Given the description of an element on the screen output the (x, y) to click on. 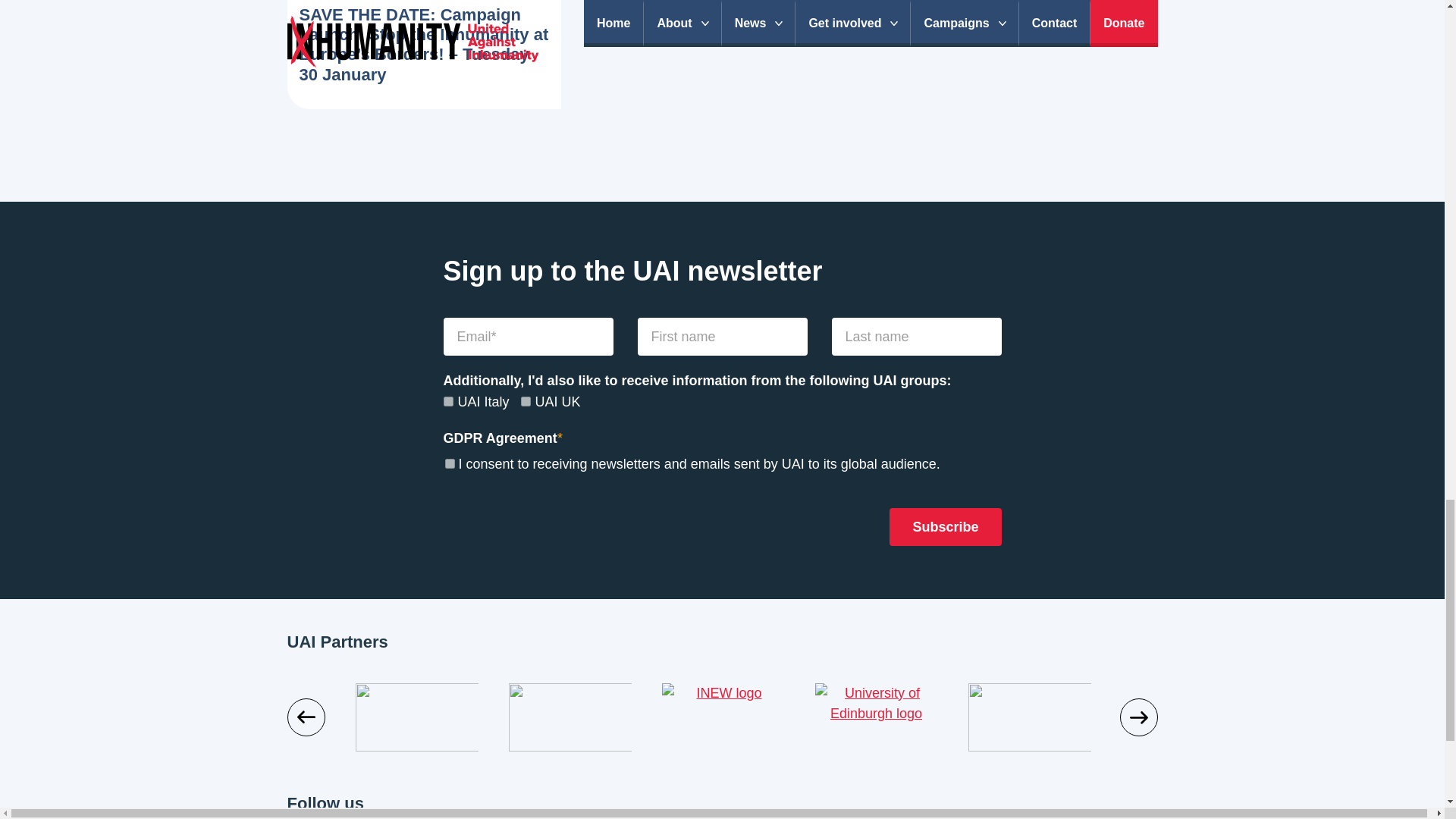
Company logo (569, 717)
Company logo (875, 717)
Company logo (722, 717)
Subscribe (945, 526)
Company logo (262, 717)
Company logo (416, 717)
Y (449, 463)
4 (526, 401)
2 (447, 401)
